Given the description of an element on the screen output the (x, y) to click on. 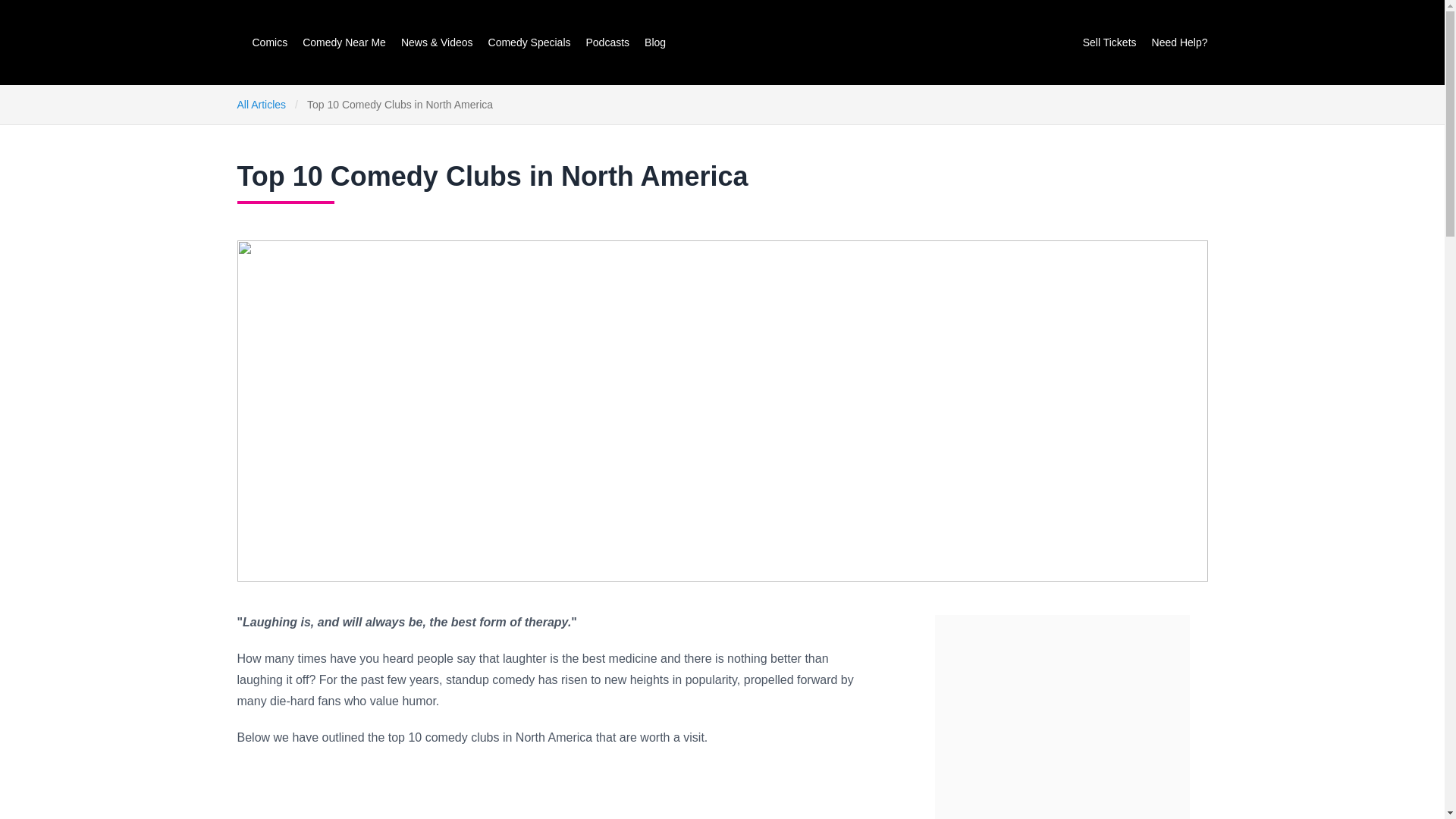
All Articles (260, 104)
Comedy Near Me (343, 42)
Comedy Specials (528, 42)
Blog (655, 42)
Comedy Specials (528, 42)
Comics (268, 42)
Blog (655, 42)
Podcasts (606, 42)
All Articles (260, 104)
Comics (268, 42)
